Given the description of an element on the screen output the (x, y) to click on. 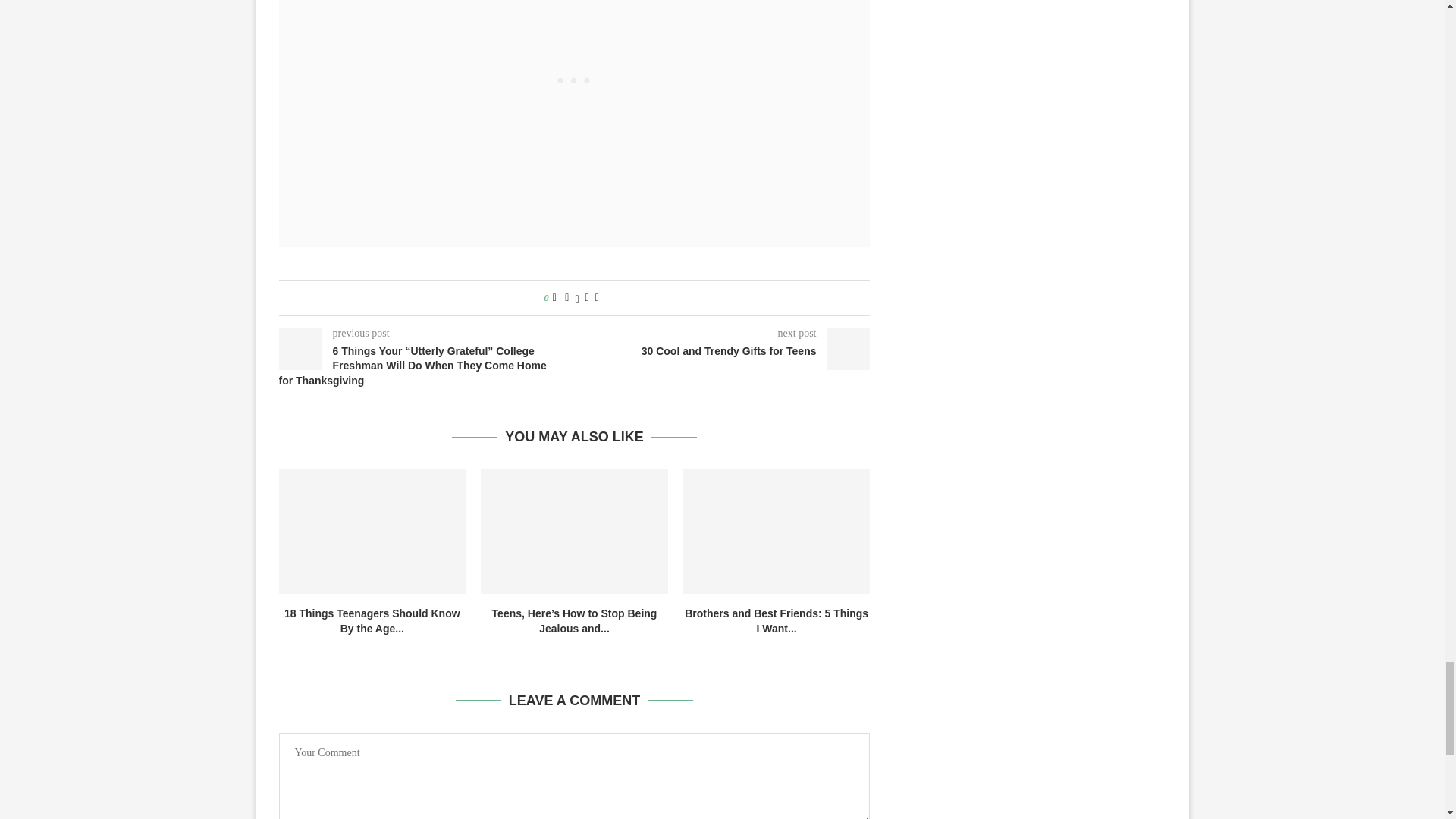
18 Things Teenagers Should Know By the Age of 18 (372, 531)
